Given the description of an element on the screen output the (x, y) to click on. 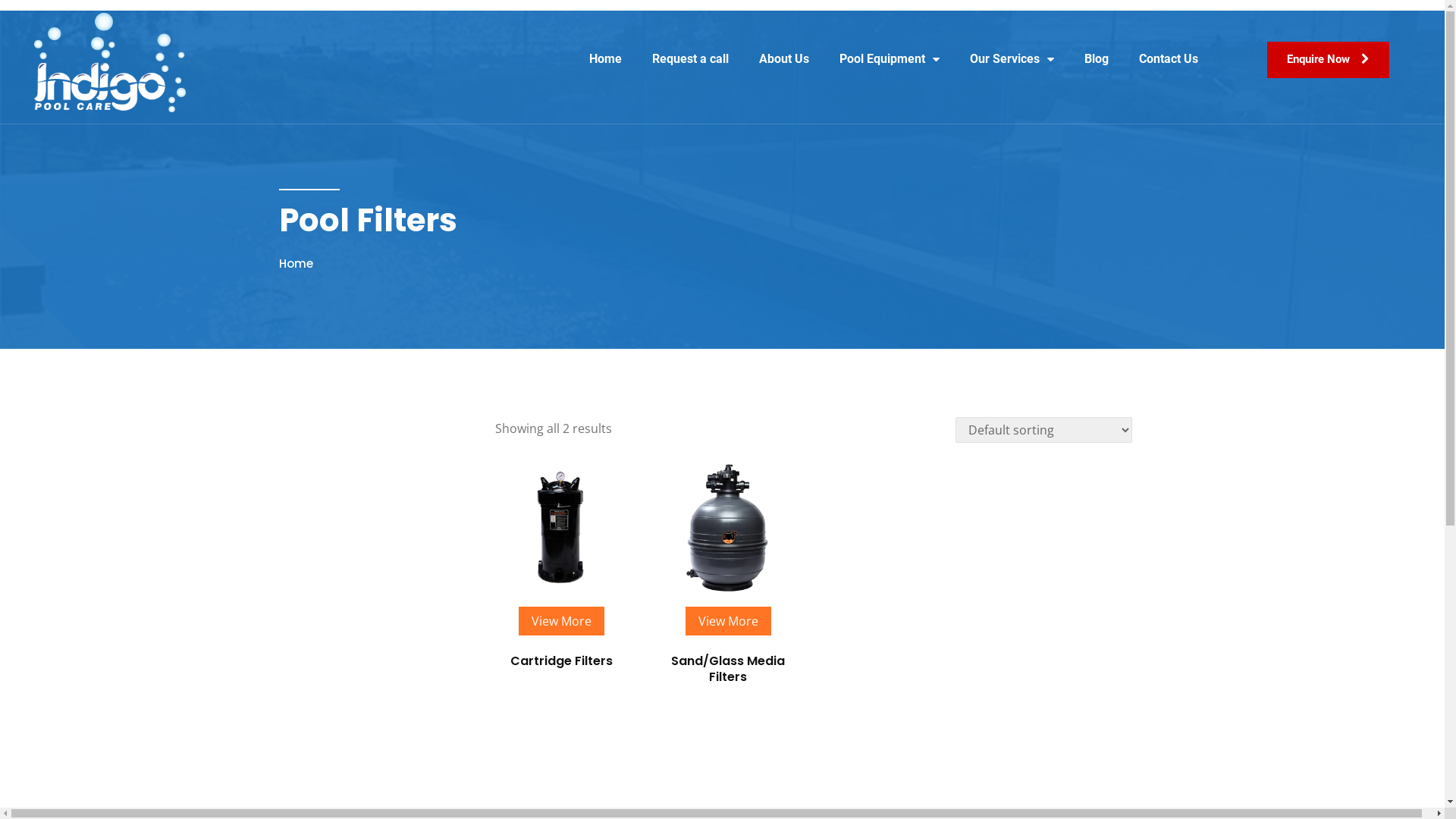
Home Element type: text (604, 58)
Request a call Element type: text (690, 58)
Blog Element type: text (1096, 58)
View More Element type: text (561, 620)
Enquire Now Element type: text (1328, 59)
View More Element type: text (728, 620)
Sand/Glass Media Filters Element type: text (727, 684)
Our Services Element type: text (1010, 58)
Home Element type: text (296, 263)
About Us Element type: text (783, 58)
Pool Equipment Element type: text (888, 58)
Contact Us Element type: text (1168, 58)
Cartridge Filters Element type: text (560, 676)
